Given the description of an element on the screen output the (x, y) to click on. 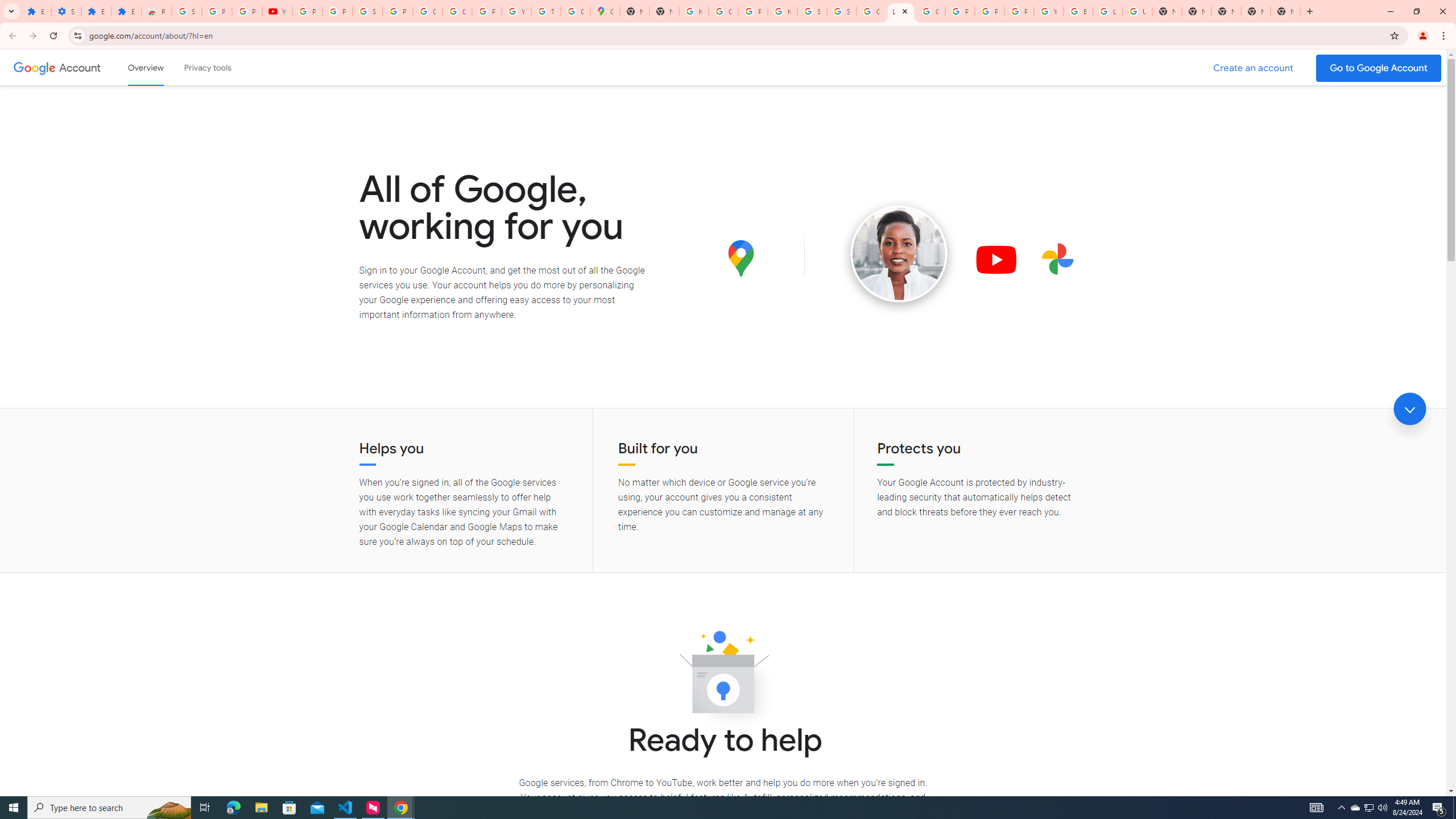
Google logo (34, 67)
Privacy Help Center - Policies Help (959, 11)
Skip to Content (162, 65)
Reviews: Helix Fruit Jump Arcade Game (156, 11)
Privacy tools (207, 67)
New Tab (1226, 11)
Settings (65, 11)
YouTube (277, 11)
Sign in - Google Accounts (841, 11)
